Given the description of an element on the screen output the (x, y) to click on. 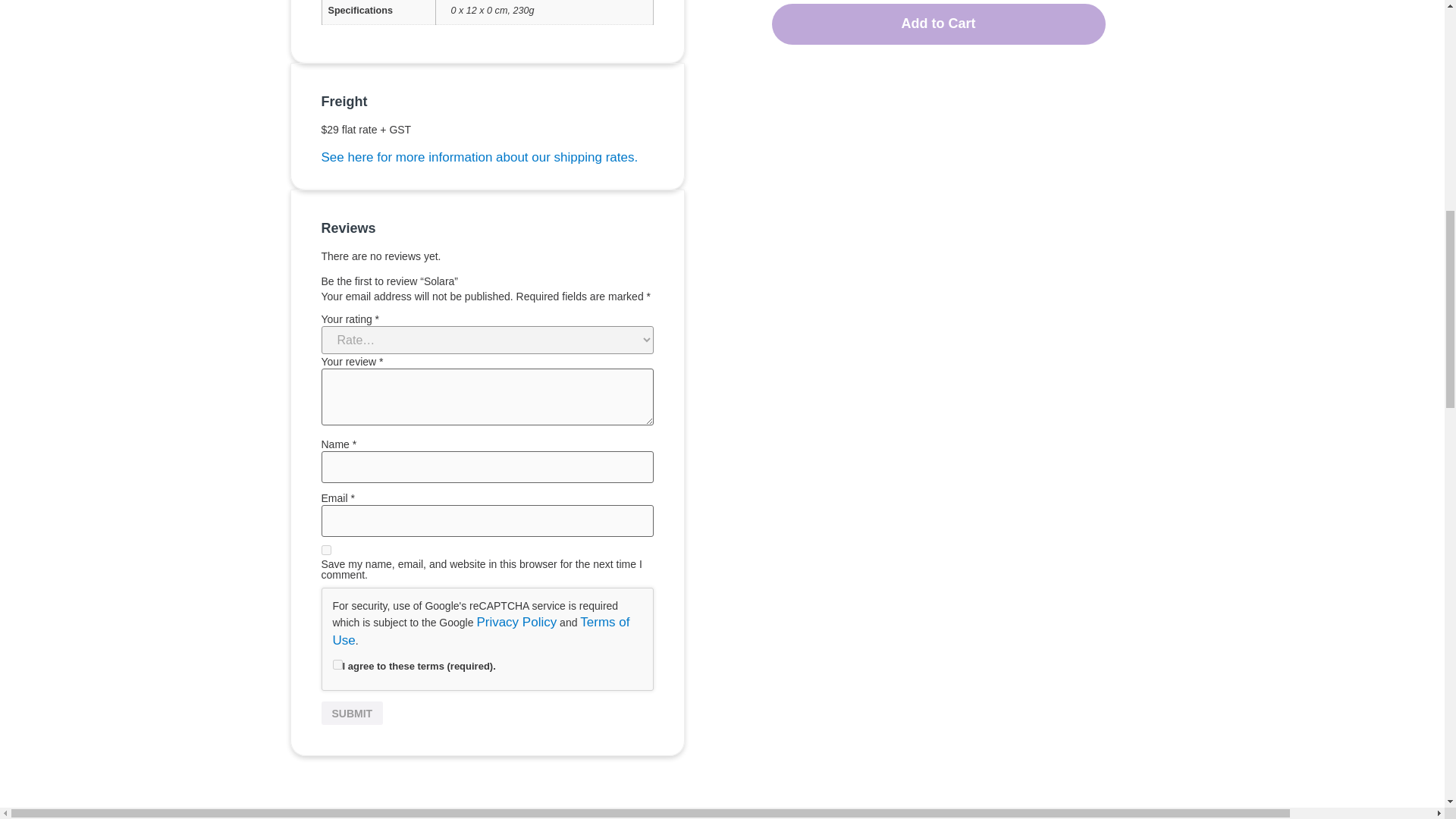
on (336, 664)
Submit (352, 712)
yes (326, 550)
